Given the description of an element on the screen output the (x, y) to click on. 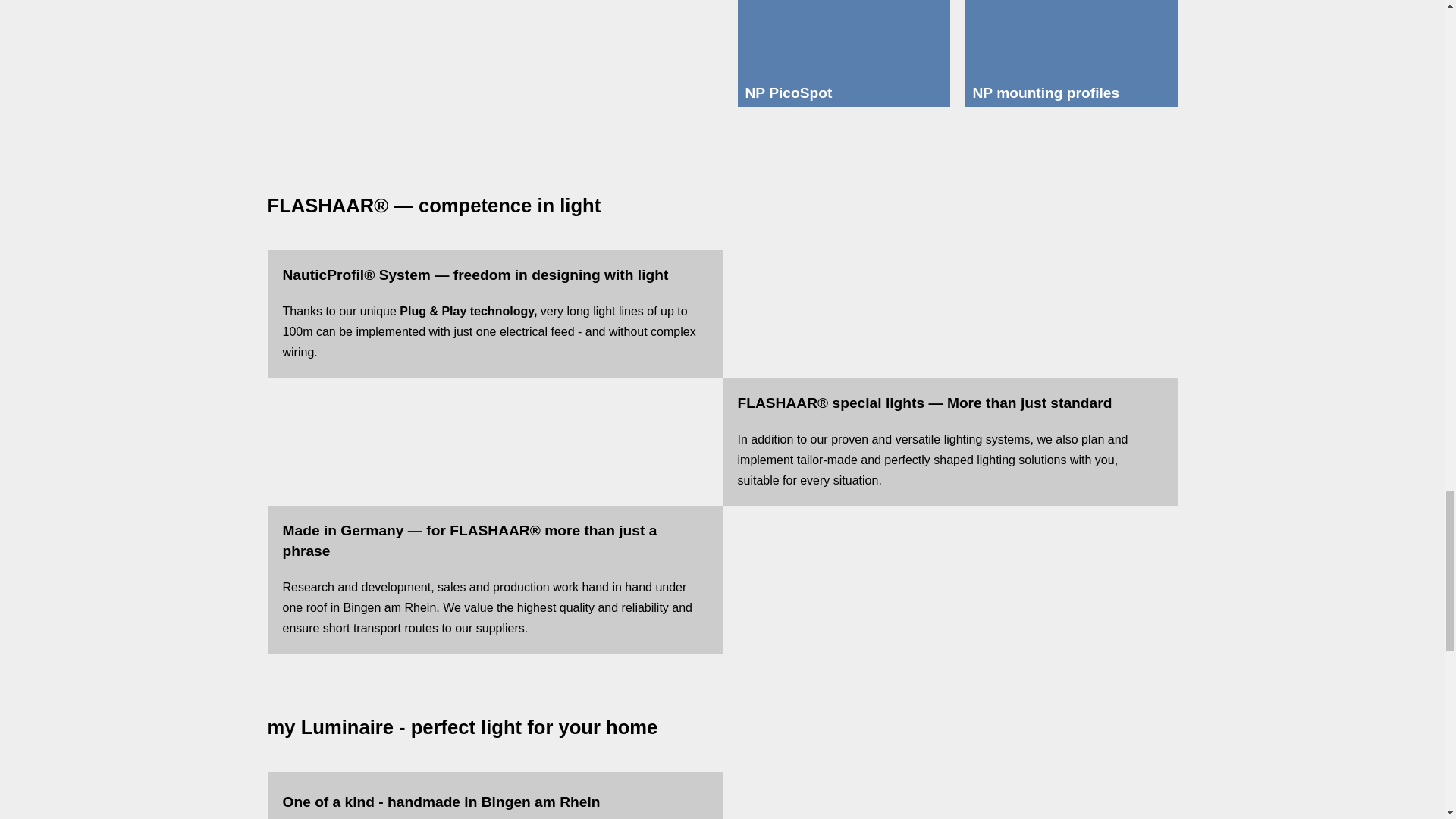
NP Picospot (842, 40)
Home 12 (486, 62)
